Given the description of an element on the screen output the (x, y) to click on. 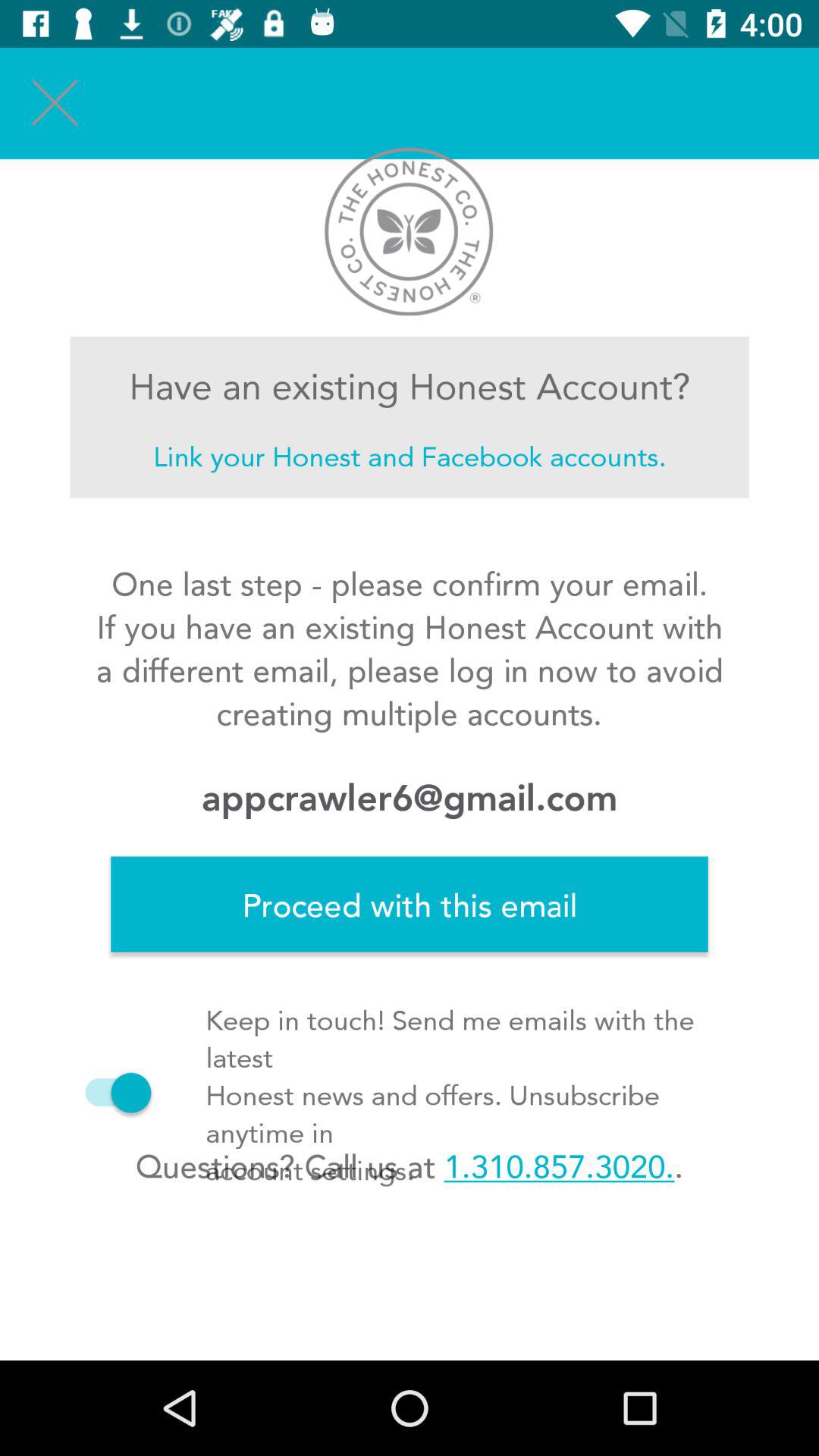
scroll until the proceed with this (409, 904)
